Given the description of an element on the screen output the (x, y) to click on. 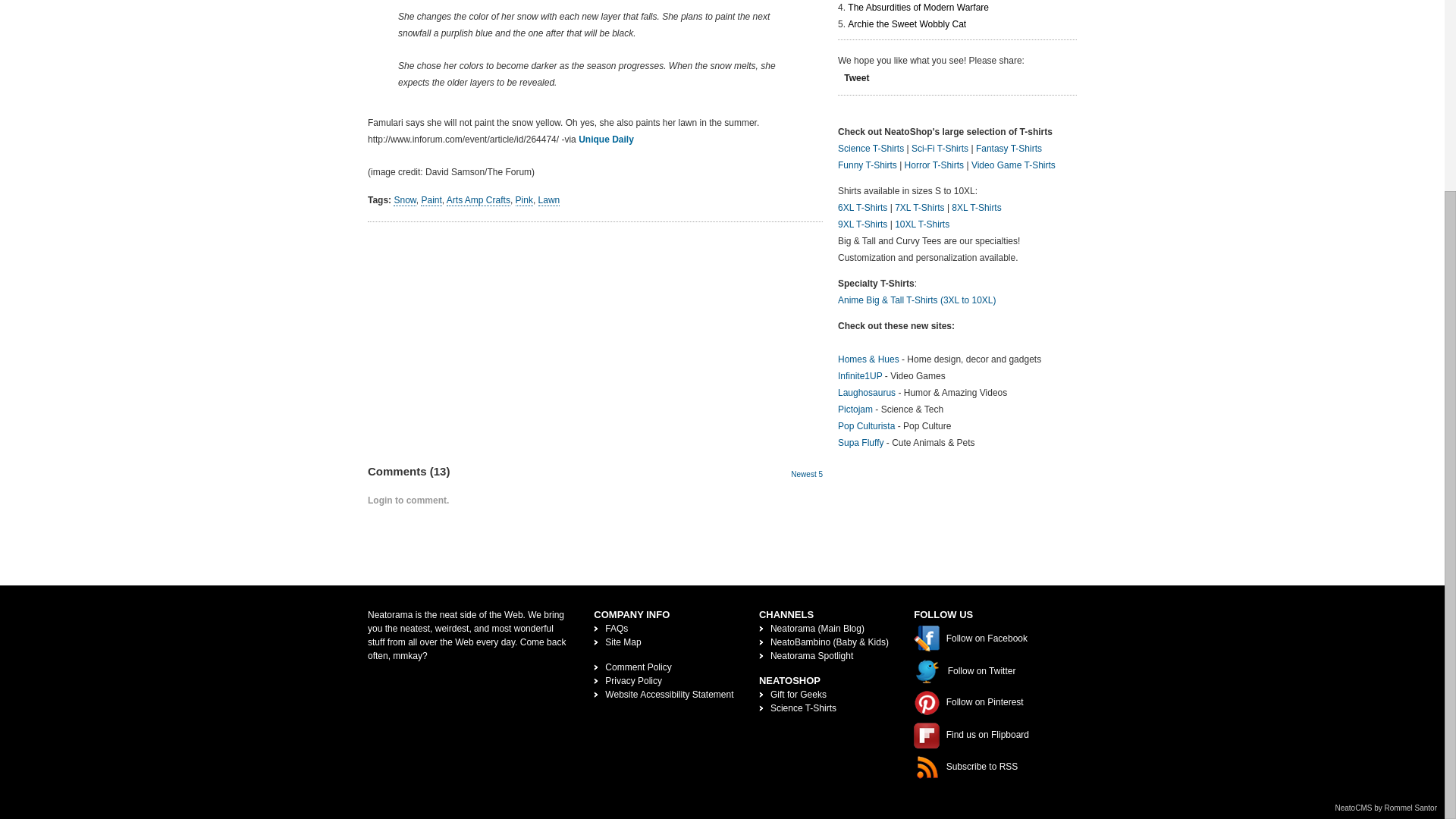
Snow (403, 200)
Paint (430, 200)
Arts Amp Crafts (478, 200)
Unique Daily (605, 139)
Pink (523, 200)
Paint (430, 200)
Snow (403, 200)
Pink (523, 200)
Lawn (549, 200)
Arts Amp Crafts (478, 200)
